Given the description of an element on the screen output the (x, y) to click on. 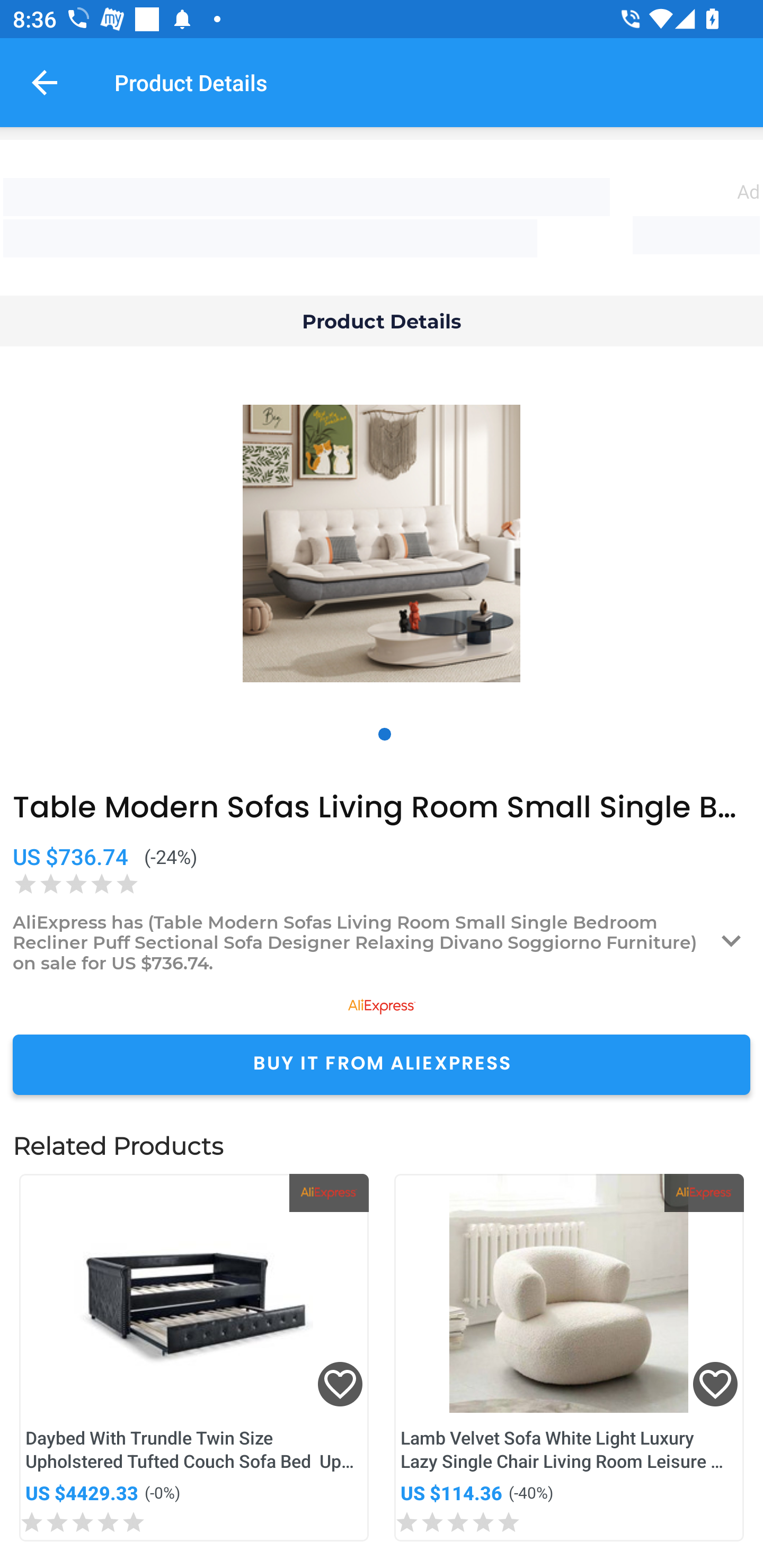
Navigate up (44, 82)
BUY IT FROM ALIEXPRESS (381, 1064)
